Given the description of an element on the screen output the (x, y) to click on. 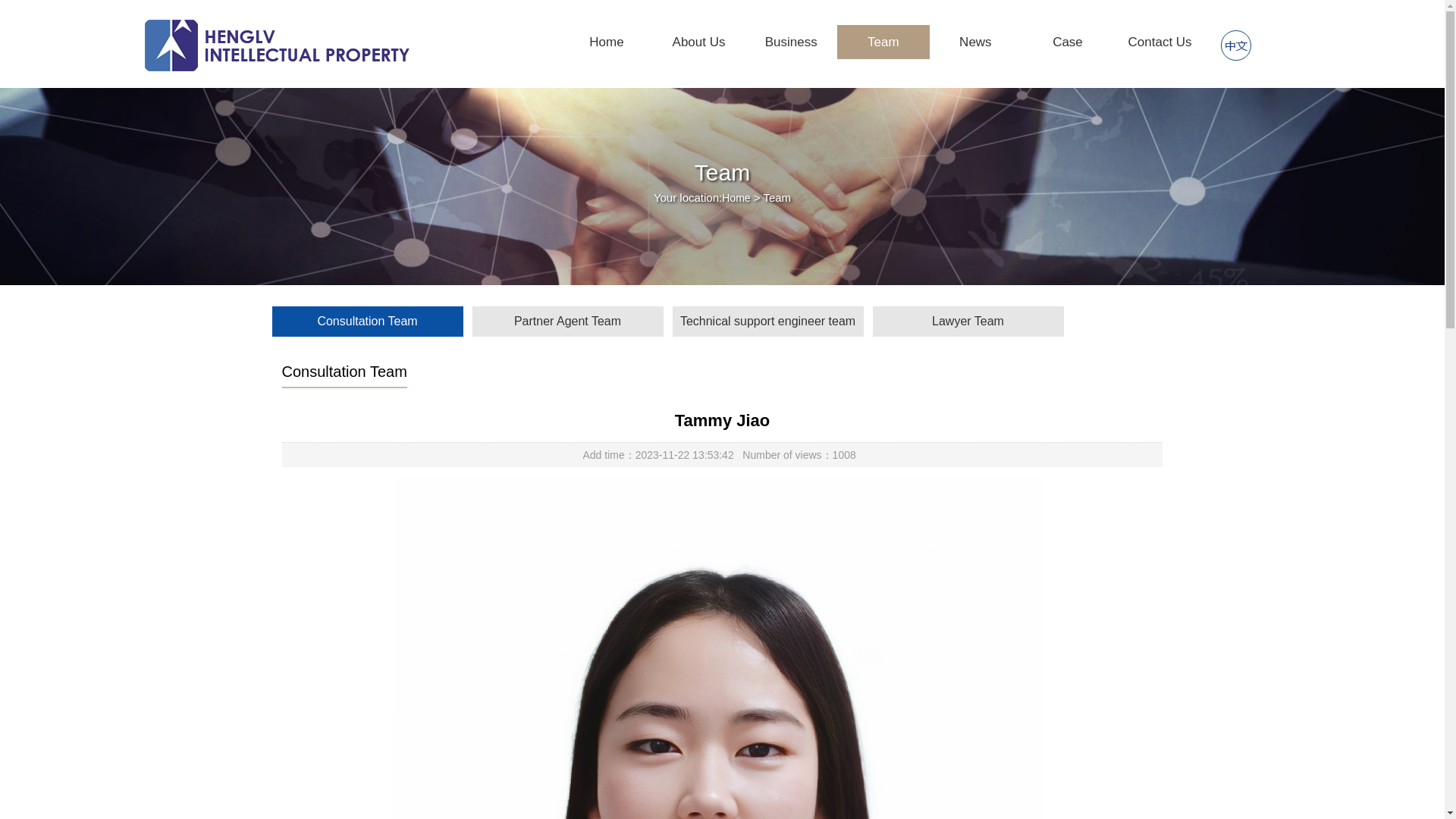
Case (1067, 41)
Home (606, 41)
Team (883, 41)
english (1236, 45)
About Us (698, 41)
Contact Us (1160, 41)
News (976, 41)
News (976, 41)
Consultation Team (366, 321)
Lawyer Team (967, 321)
